Given the description of an element on the screen output the (x, y) to click on. 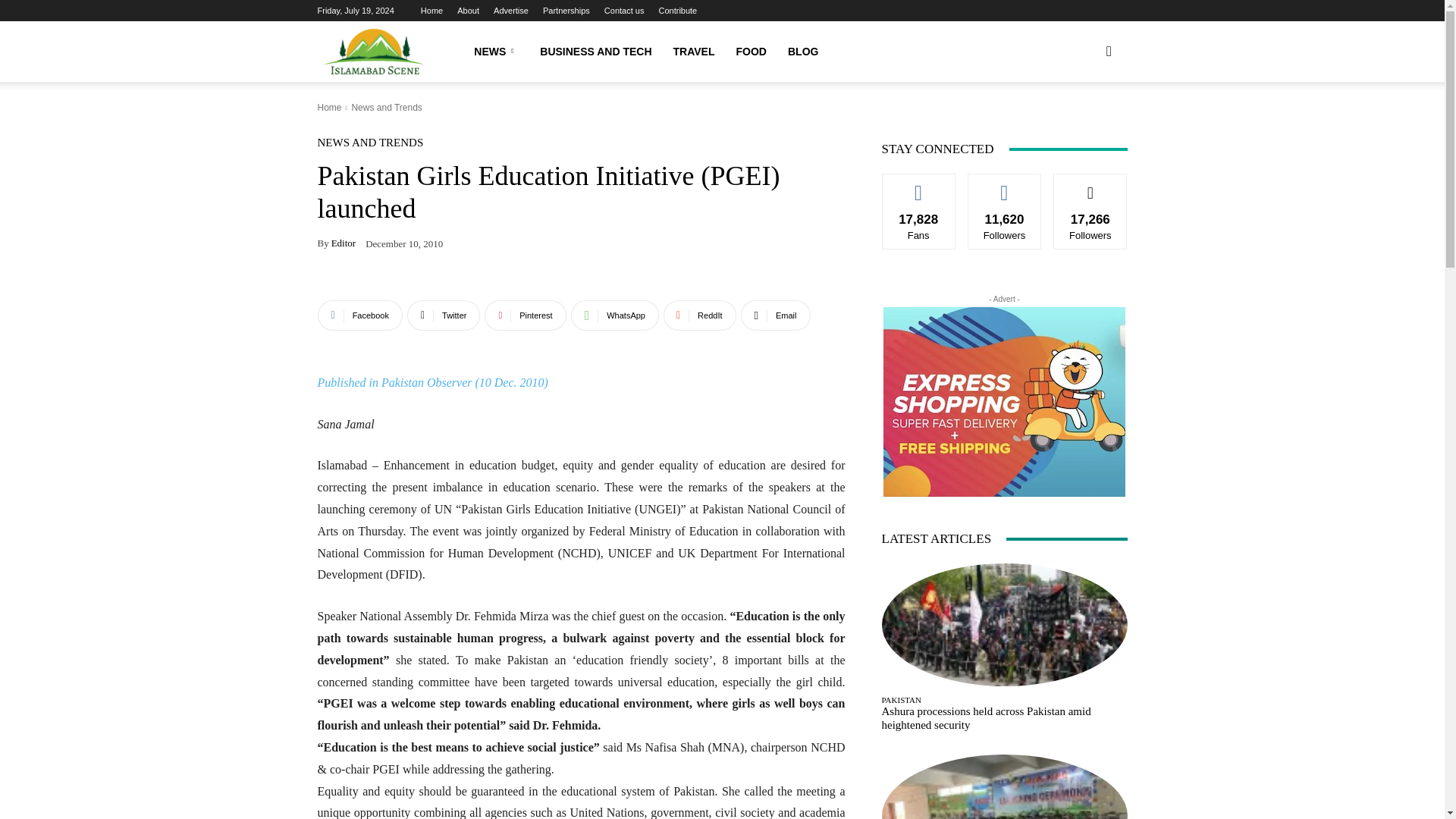
Contact us (624, 10)
NEWS AND TRENDS (370, 142)
Facebook (359, 315)
Home (431, 10)
ReddIt (699, 315)
Search (1085, 124)
Islamabad Scene (373, 51)
Twitter (443, 315)
WhatsApp (614, 315)
News and Trends (386, 107)
Pinterest (525, 315)
BUSINESS AND TECH (595, 51)
Partnerships (566, 10)
View all posts in News and Trends (386, 107)
Email (775, 315)
